Given the description of an element on the screen output the (x, y) to click on. 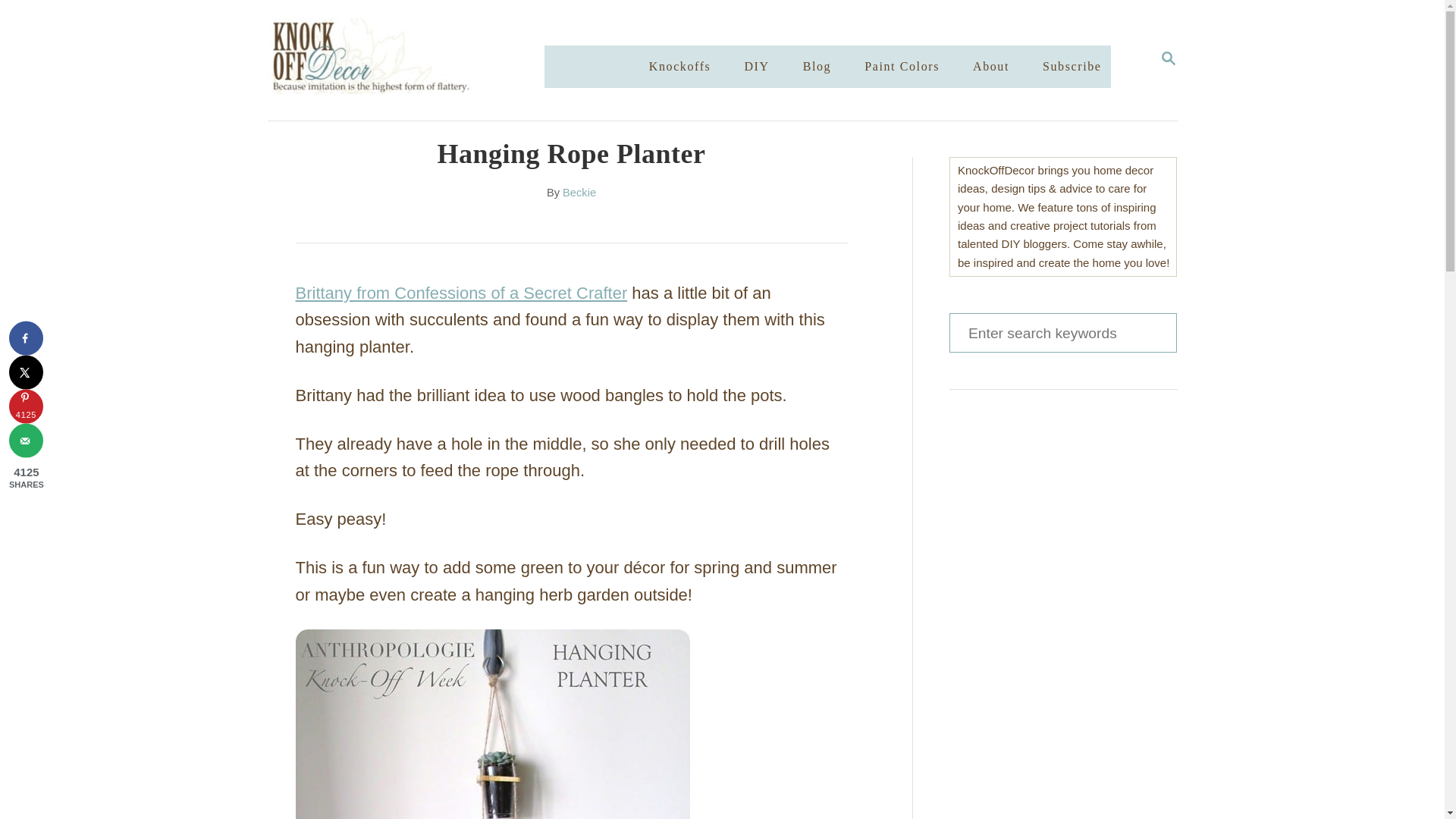
Blog (817, 66)
Beckie (578, 192)
KnockOffDecor.com (420, 60)
Share on Facebook (25, 338)
MAGNIFYING GLASS (1167, 58)
Save to Pinterest (25, 406)
DIY (1167, 59)
Share on X (756, 66)
Search for: (25, 372)
Send over email (1062, 332)
About (25, 440)
Knockoffs (990, 66)
Subscribe (680, 66)
Paint Colors (1071, 66)
